Given the description of an element on the screen output the (x, y) to click on. 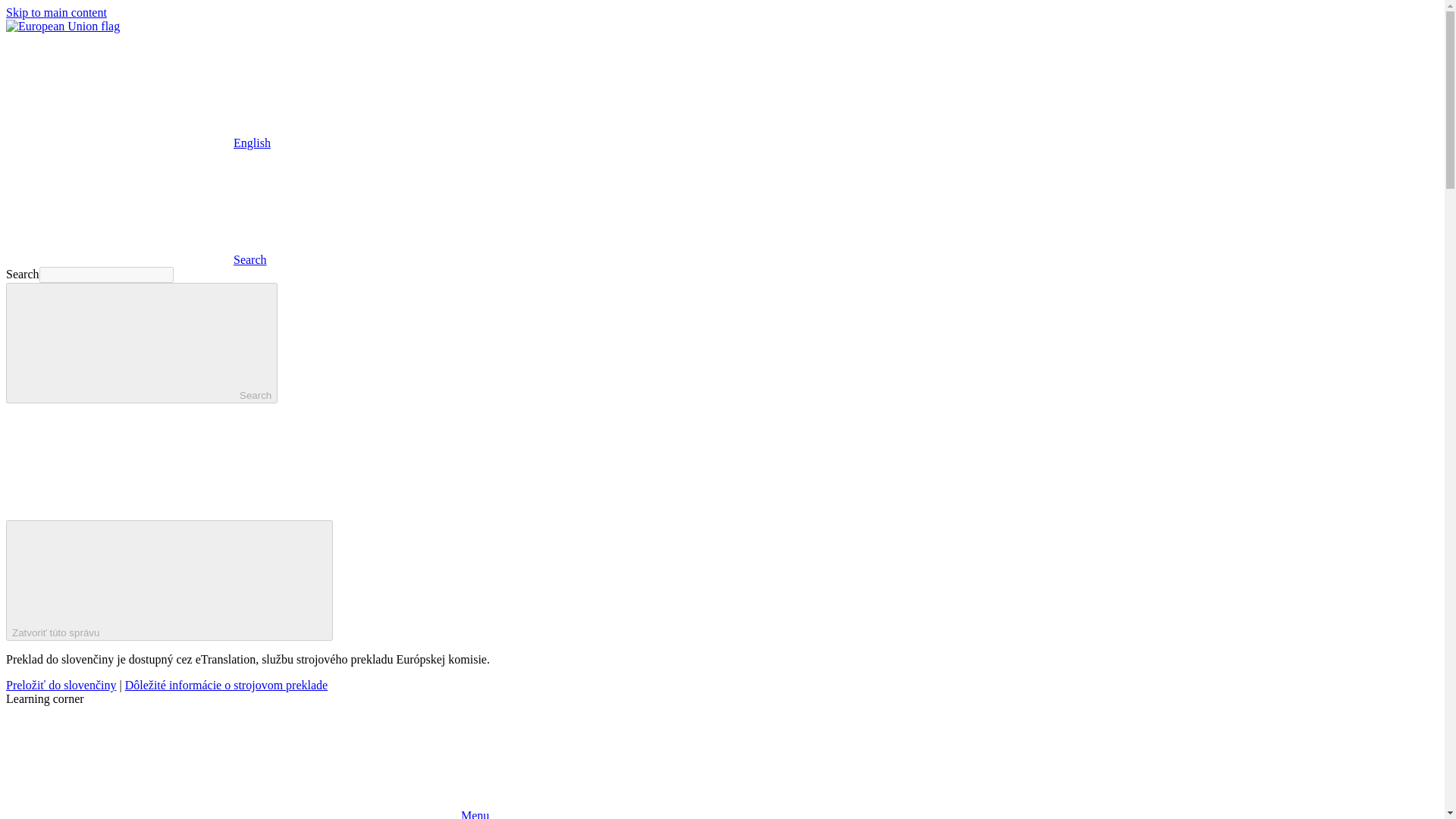
Search (135, 259)
Search (141, 342)
European Union (62, 25)
EnglishEnglish (137, 142)
English (118, 90)
Menu (247, 814)
Skip to main content (55, 11)
